Given the description of an element on the screen output the (x, y) to click on. 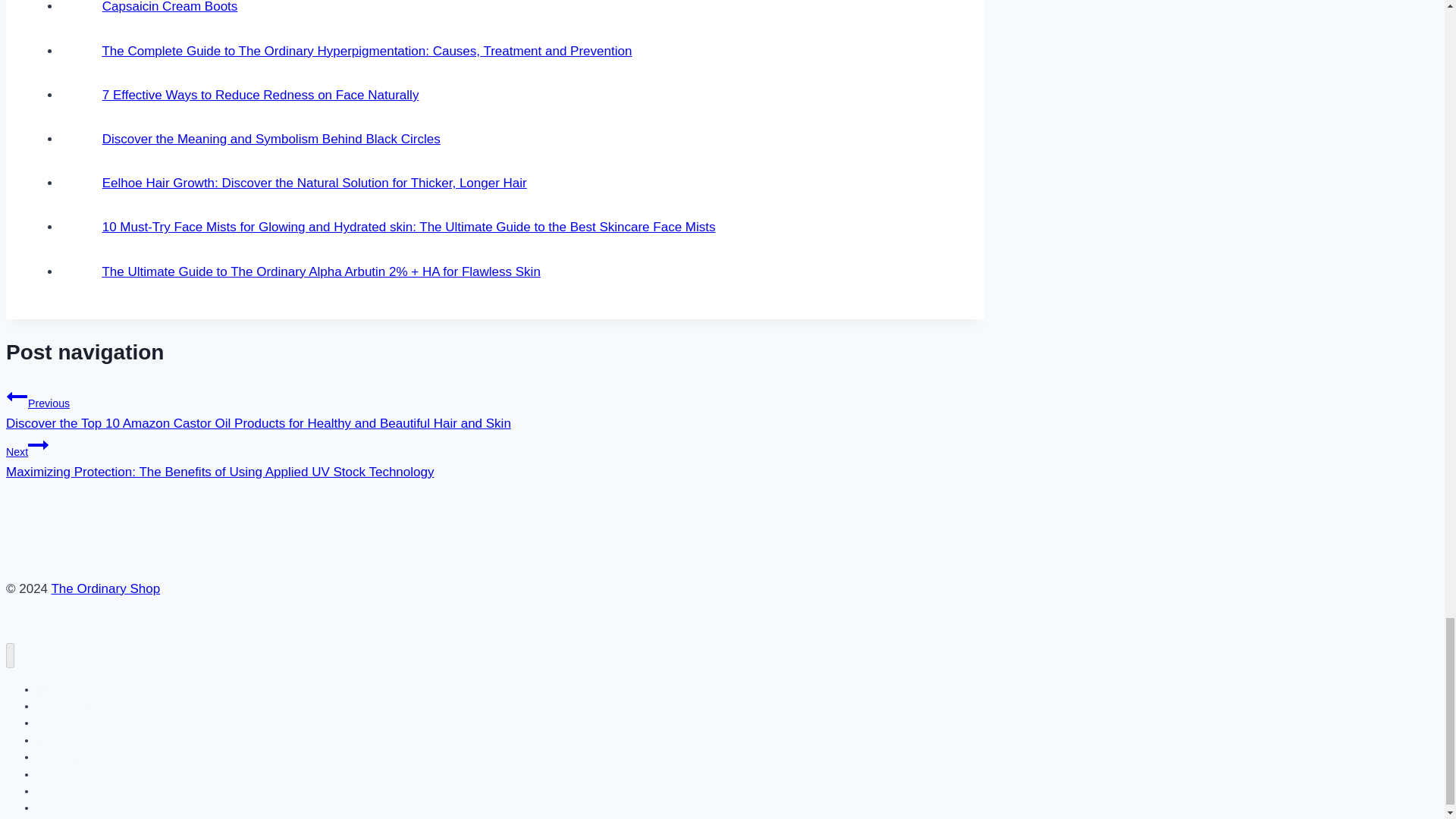
Previous (16, 396)
Discover the Meaning and Symbolism Behind Black Circles (271, 138)
The Ordinary Shop (105, 588)
7 Effective Ways to Reduce Redness on Face Naturally (260, 94)
Skincare (56, 689)
Capsaicin Cream Boots (169, 6)
Continue (37, 444)
